Given the description of an element on the screen output the (x, y) to click on. 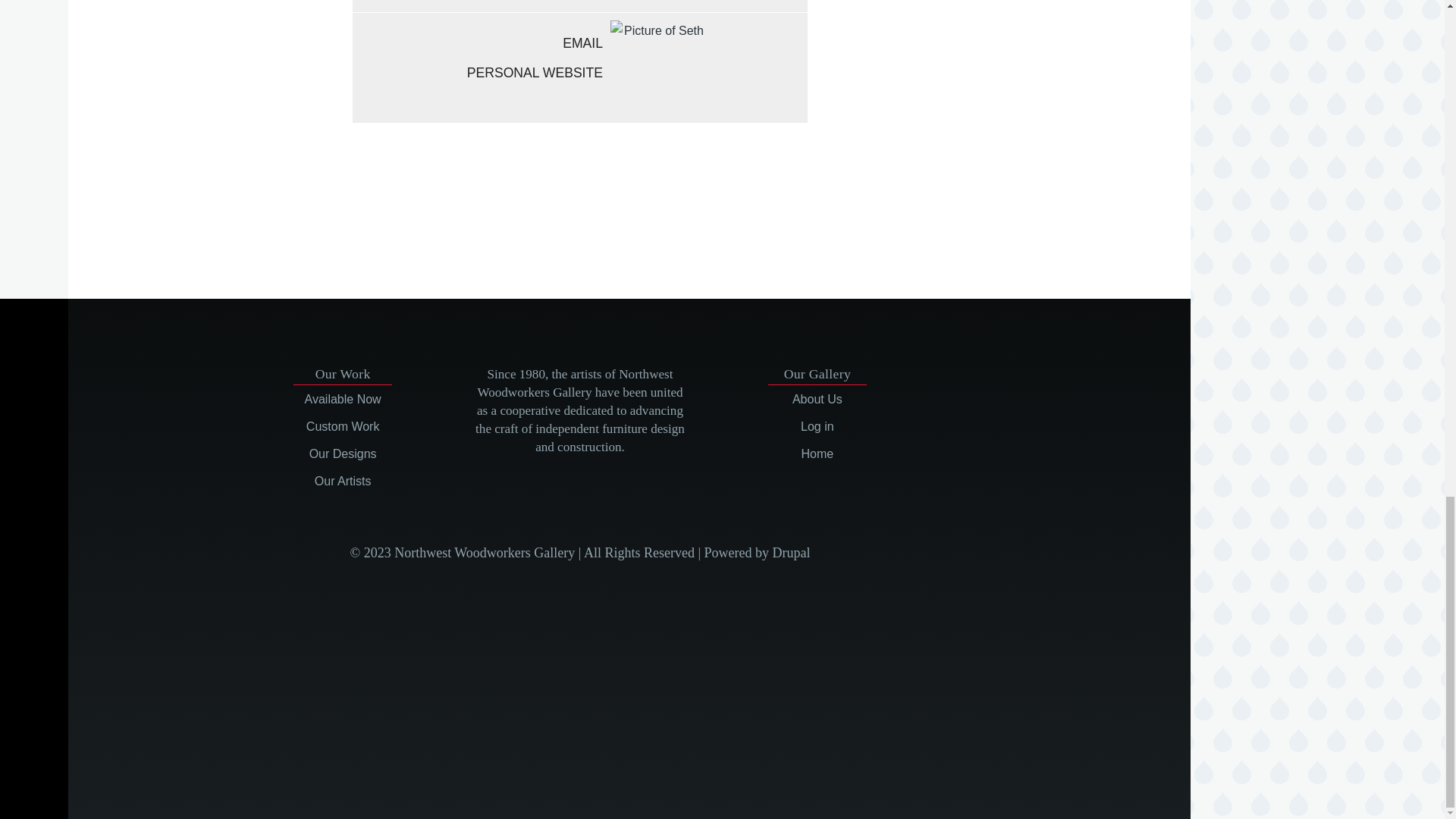
Information about our gallery (817, 399)
Custom Work (342, 426)
PERSONAL WEBSITE (477, 72)
Our Artists (342, 481)
Seth Rolland (657, 67)
Our home page (816, 453)
Home (816, 453)
mma-pop.ru (549, 214)
Log in (817, 426)
About Us (817, 399)
